Given the description of an element on the screen output the (x, y) to click on. 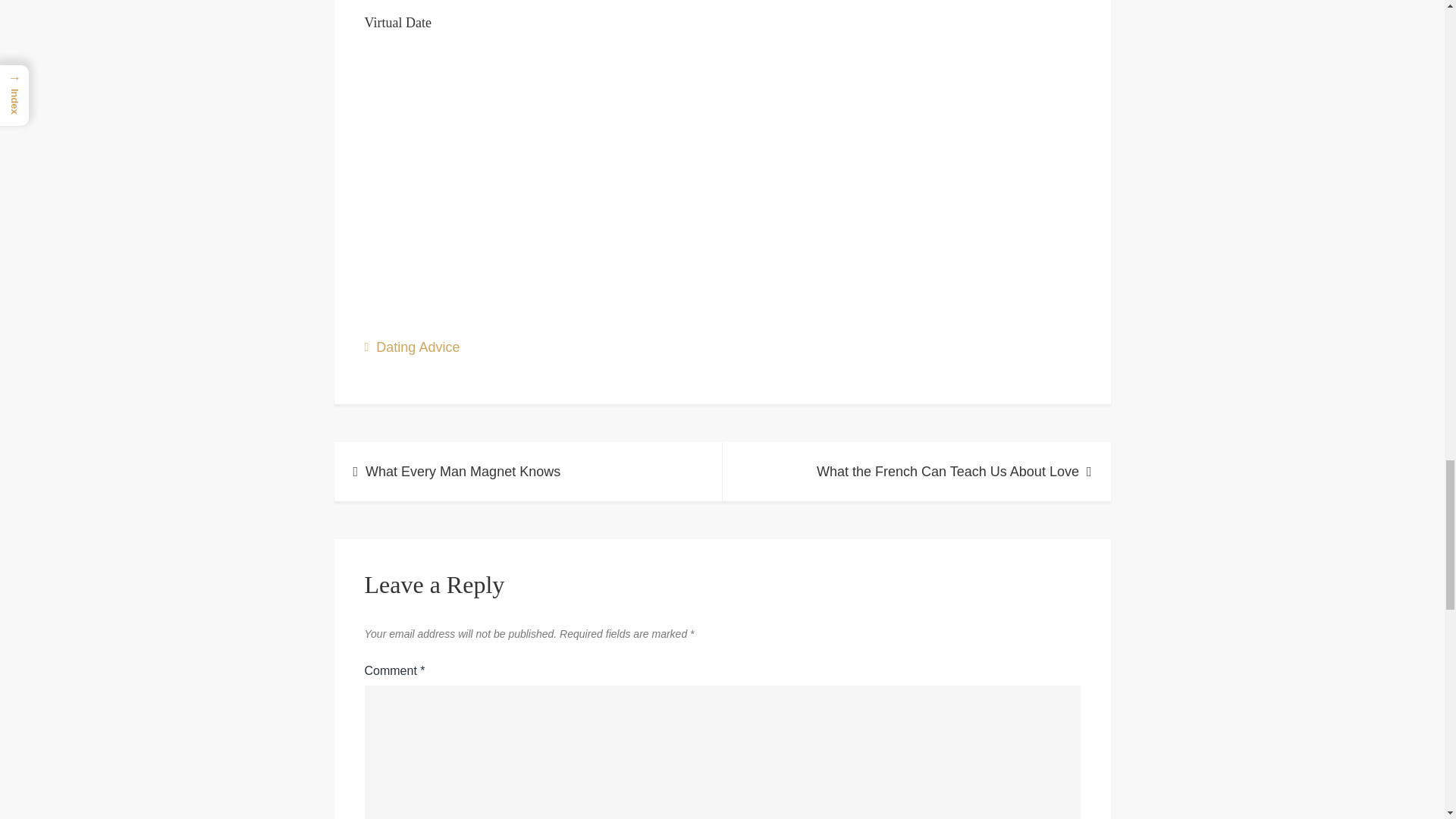
Dating Advice (417, 346)
What the French Can Teach Us About Love (915, 471)
What Every Man Magnet Knows (527, 471)
